Given the description of an element on the screen output the (x, y) to click on. 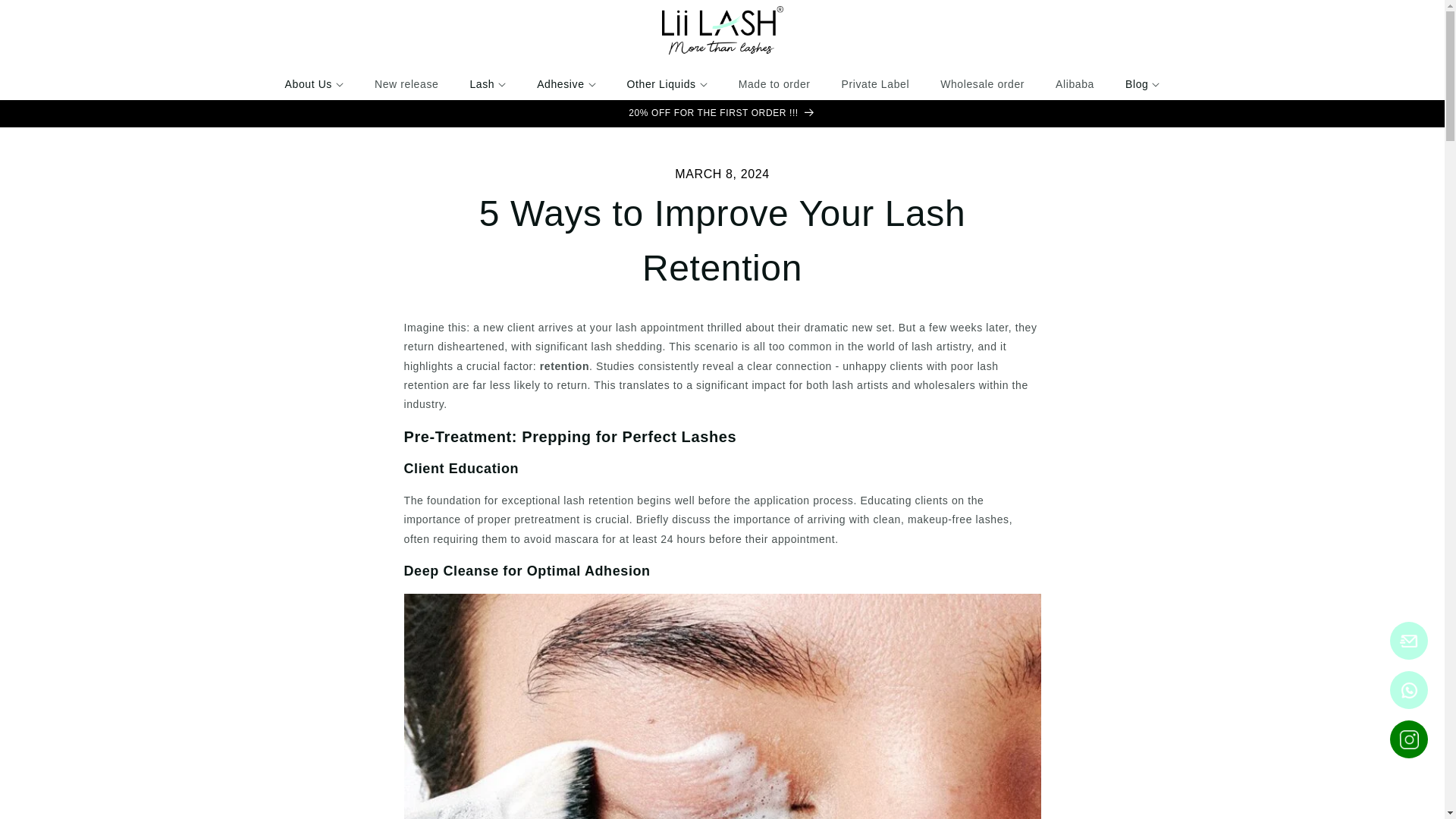
Skip to content (45, 14)
